Given the description of an element on the screen output the (x, y) to click on. 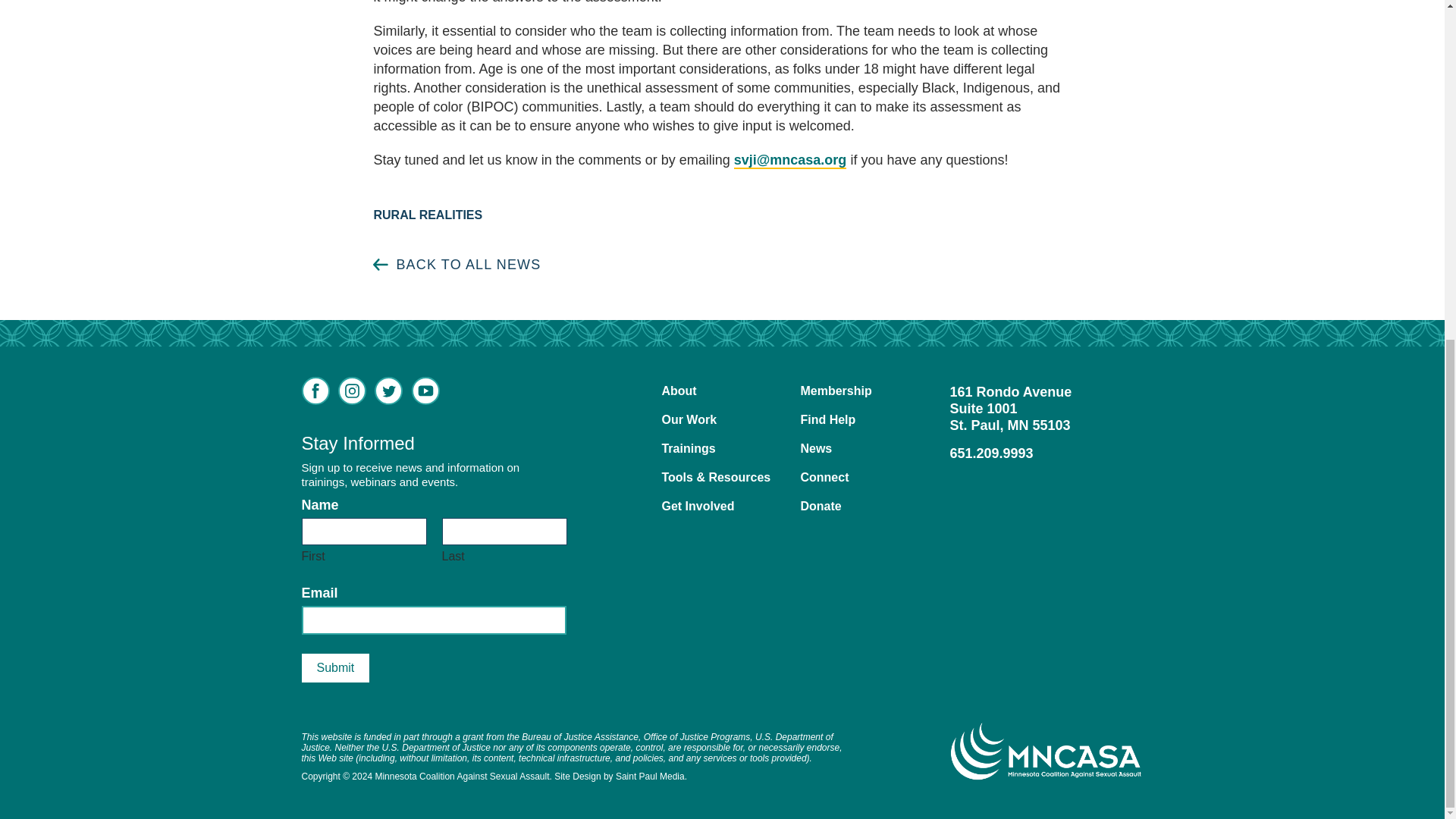
Submit (335, 667)
